Given the description of an element on the screen output the (x, y) to click on. 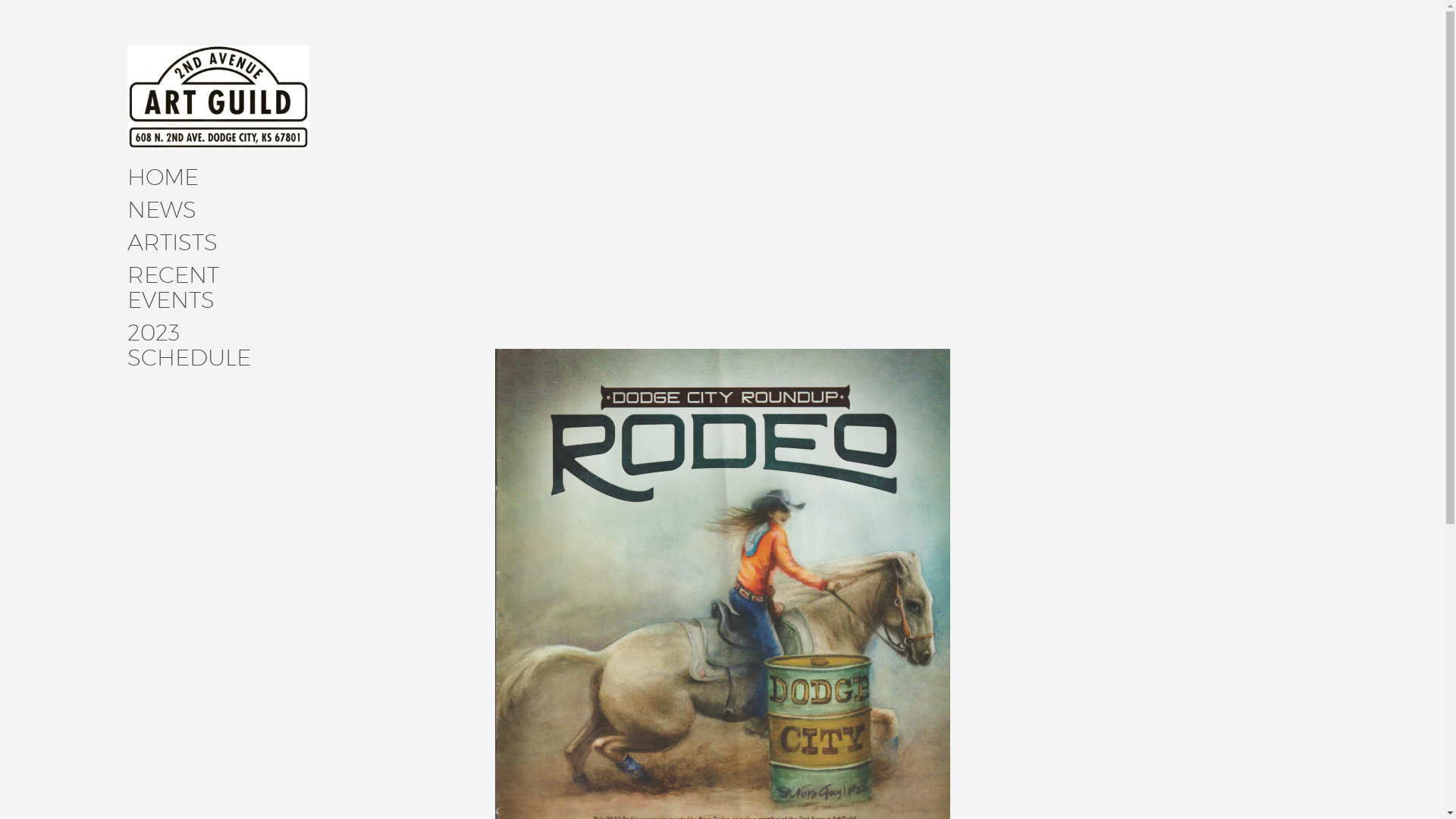
2023 SCHEDULE Element type: text (218, 346)
ARTISTS Element type: text (172, 243)
HOME Element type: text (162, 178)
RECENT EVENTS Element type: text (218, 288)
NEWS Element type: text (161, 211)
2nd Avenue Art Guild and Gallery Element type: text (404, 174)
